Given the description of an element on the screen output the (x, y) to click on. 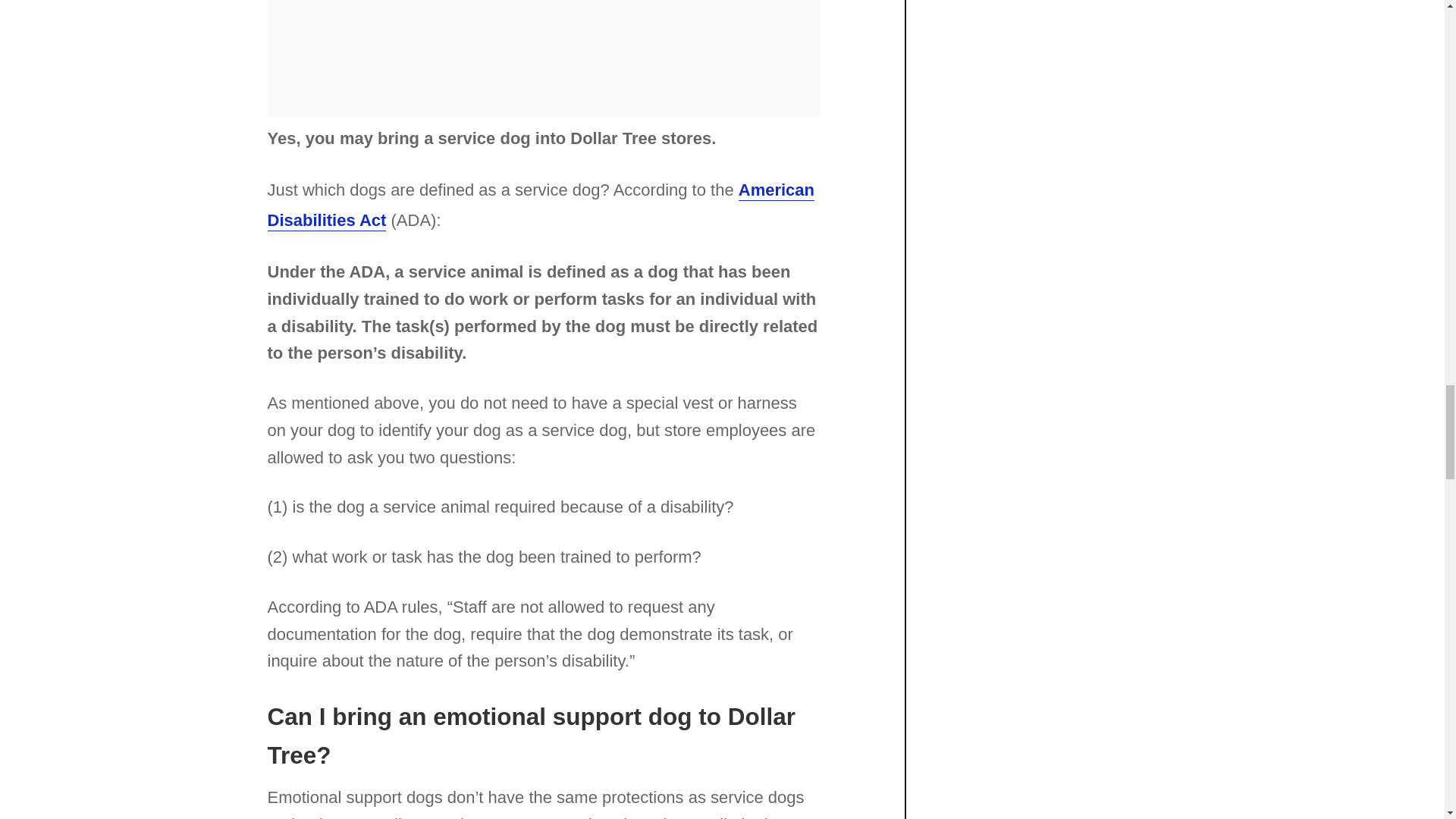
American Disabilities Act (539, 205)
